Given the description of an element on the screen output the (x, y) to click on. 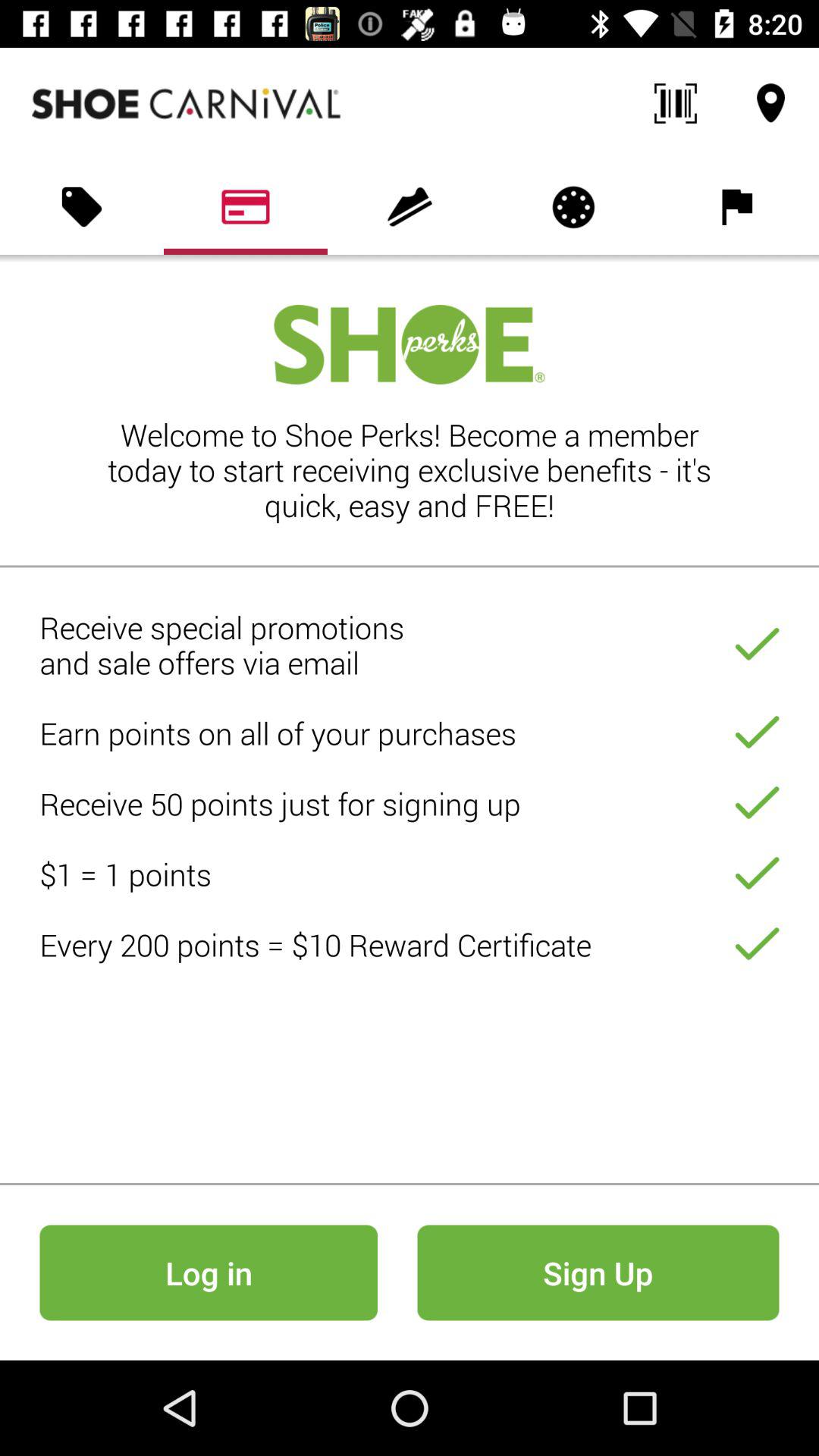
turn off the icon to the right of log in icon (598, 1272)
